Given the description of an element on the screen output the (x, y) to click on. 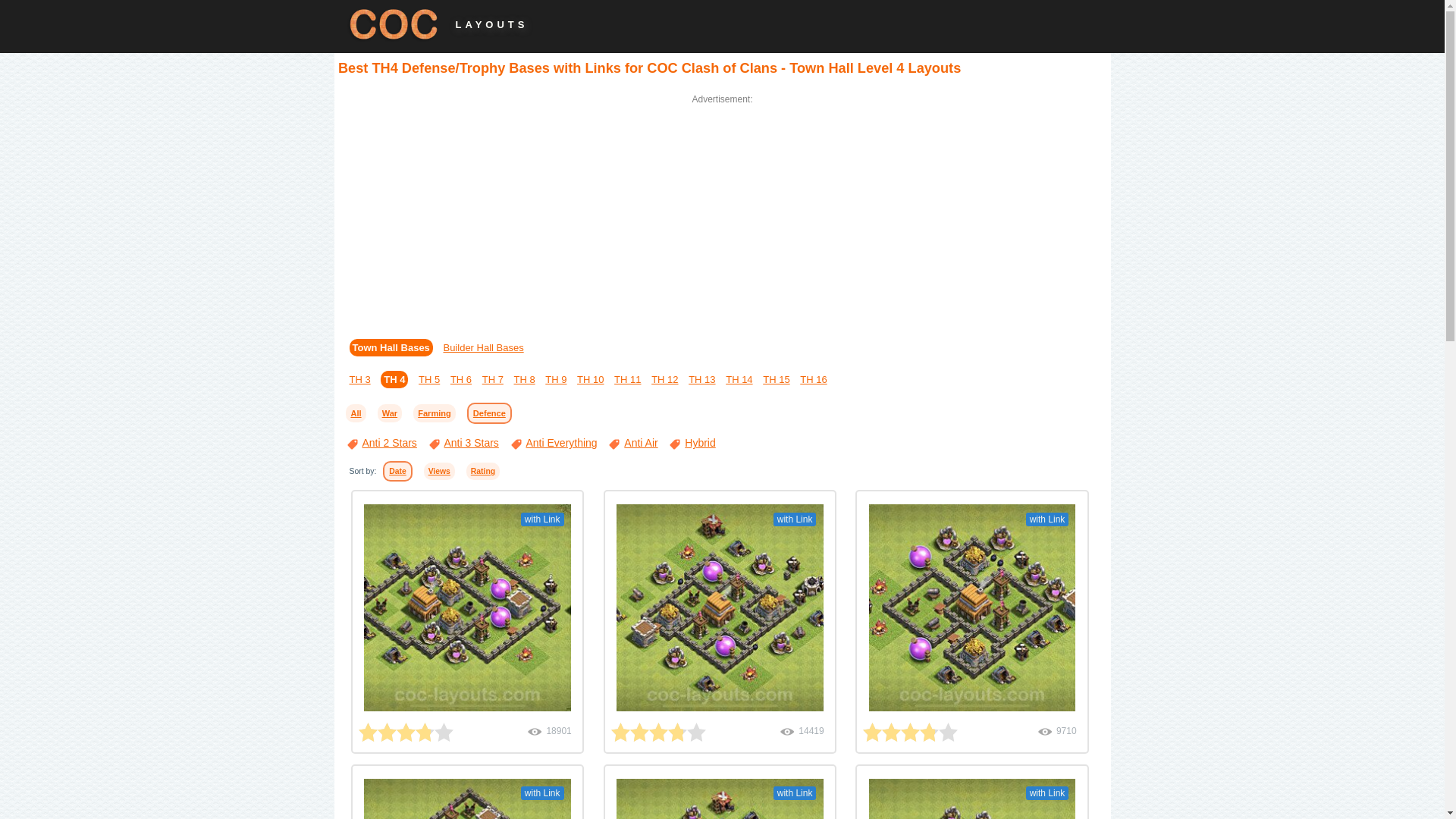
TH 9 (555, 378)
TH 12 (664, 378)
Tag Anti 3 Stars (463, 442)
Tag Anti Air (632, 442)
Tag Anti Everything (552, 442)
TH 16 (813, 378)
Builder Hall Bases (482, 347)
Hybrid (691, 442)
Anti 3 Stars (463, 442)
TH 7 (492, 378)
TH 13 (701, 378)
All (355, 413)
TH 10 (590, 378)
TH 4 (393, 379)
TH 8 (523, 378)
